Given the description of an element on the screen output the (x, y) to click on. 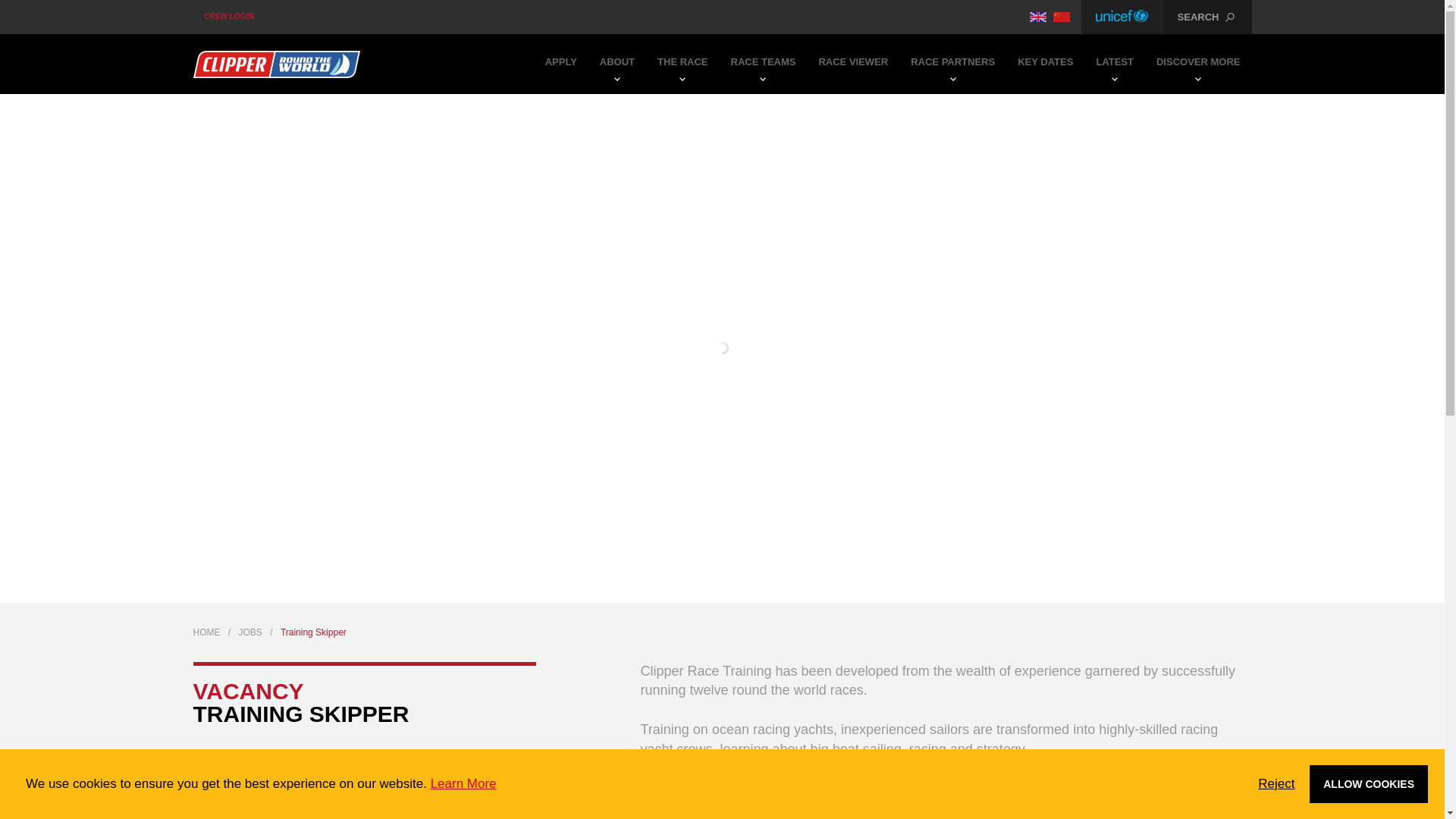
Submit (723, 101)
APPLY (561, 64)
CREW LOGIN (228, 17)
English (1037, 17)
English (1037, 17)
Clipper Round The World (275, 64)
RACE TEAMS (762, 64)
Chinese (1061, 17)
English (1037, 17)
Chinese (1061, 17)
ABOUT (617, 64)
Chinese (1061, 17)
THE RACE (682, 64)
Unicef (1122, 17)
Clipper - Round The World (275, 64)
